Given the description of an element on the screen output the (x, y) to click on. 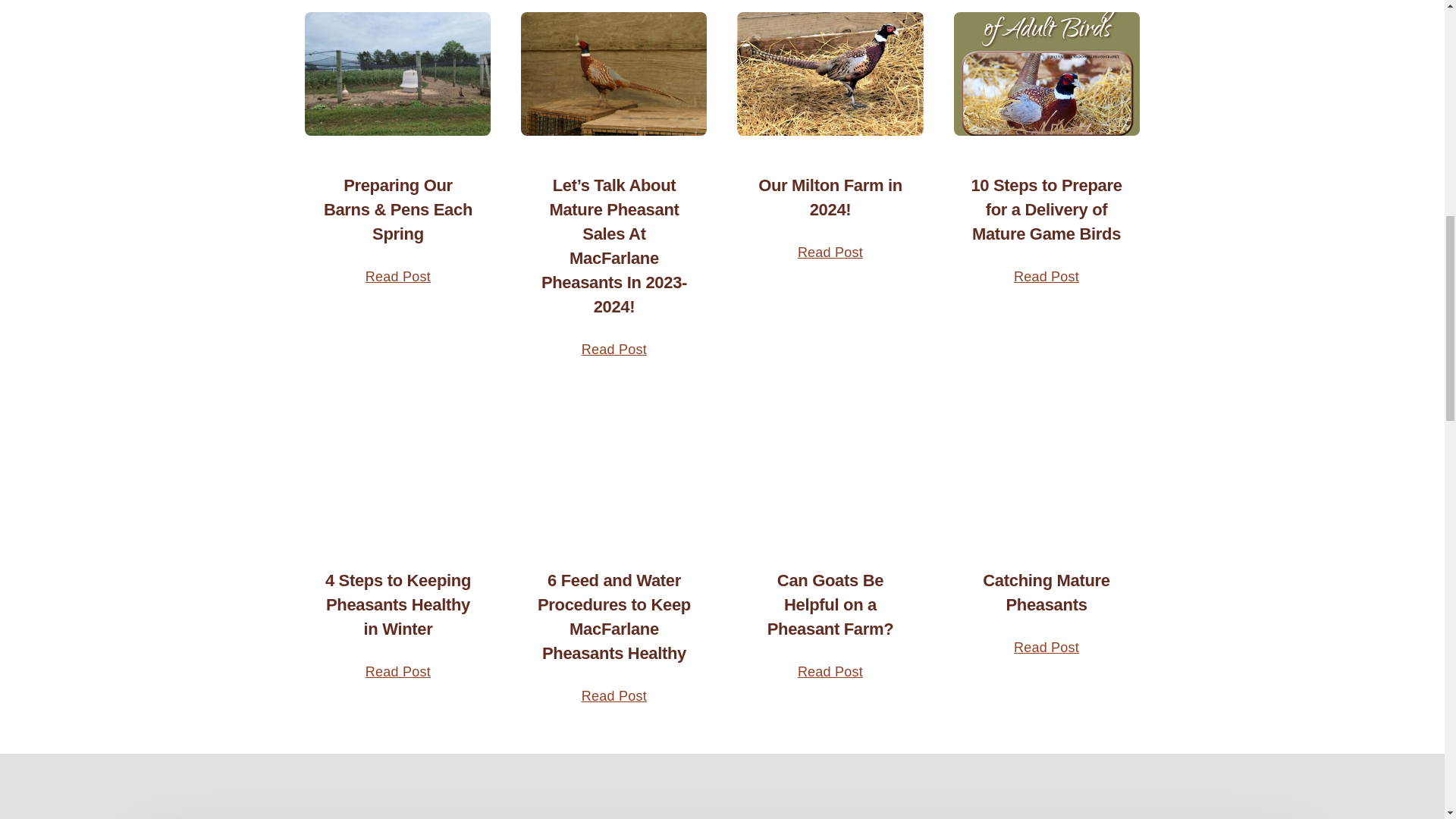
Flight Pen (397, 73)
Pheasants in Flight Pen (1046, 468)
Ringneck (829, 73)
Brooder Panel (613, 468)
Brooder Chicks (397, 468)
Can Goats Be Helpful on a Pheasant Farm (829, 468)
Set Up and Care for a Delivery of Mature Game Birds (1046, 73)
Chinese Ringneck (613, 73)
